Given the description of an element on the screen output the (x, y) to click on. 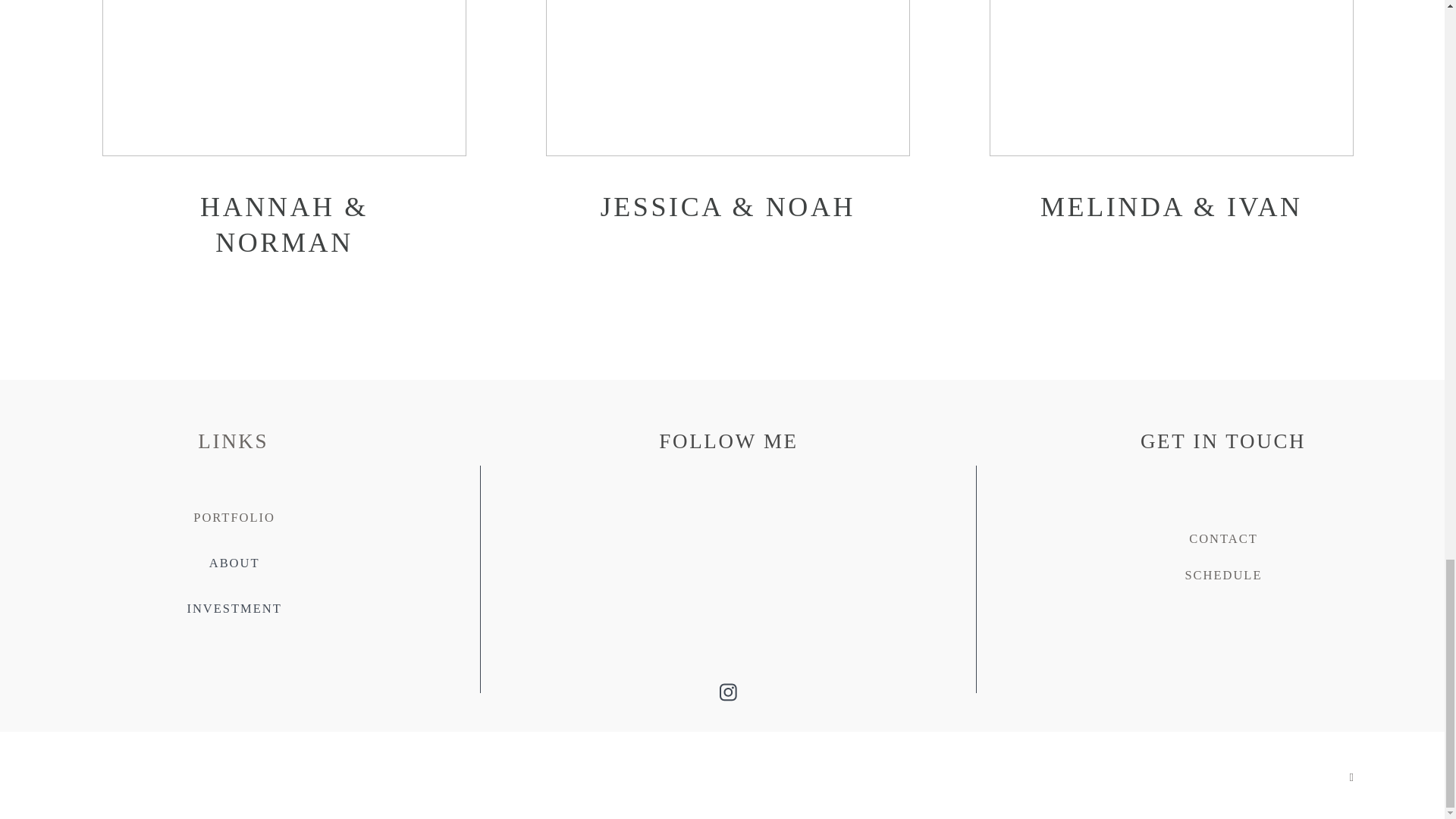
INVESTMENT (233, 608)
ABOUT (234, 563)
CONTACT (1223, 538)
PORTFOLIO (234, 517)
SCHEDULE (1223, 575)
